Given the description of an element on the screen output the (x, y) to click on. 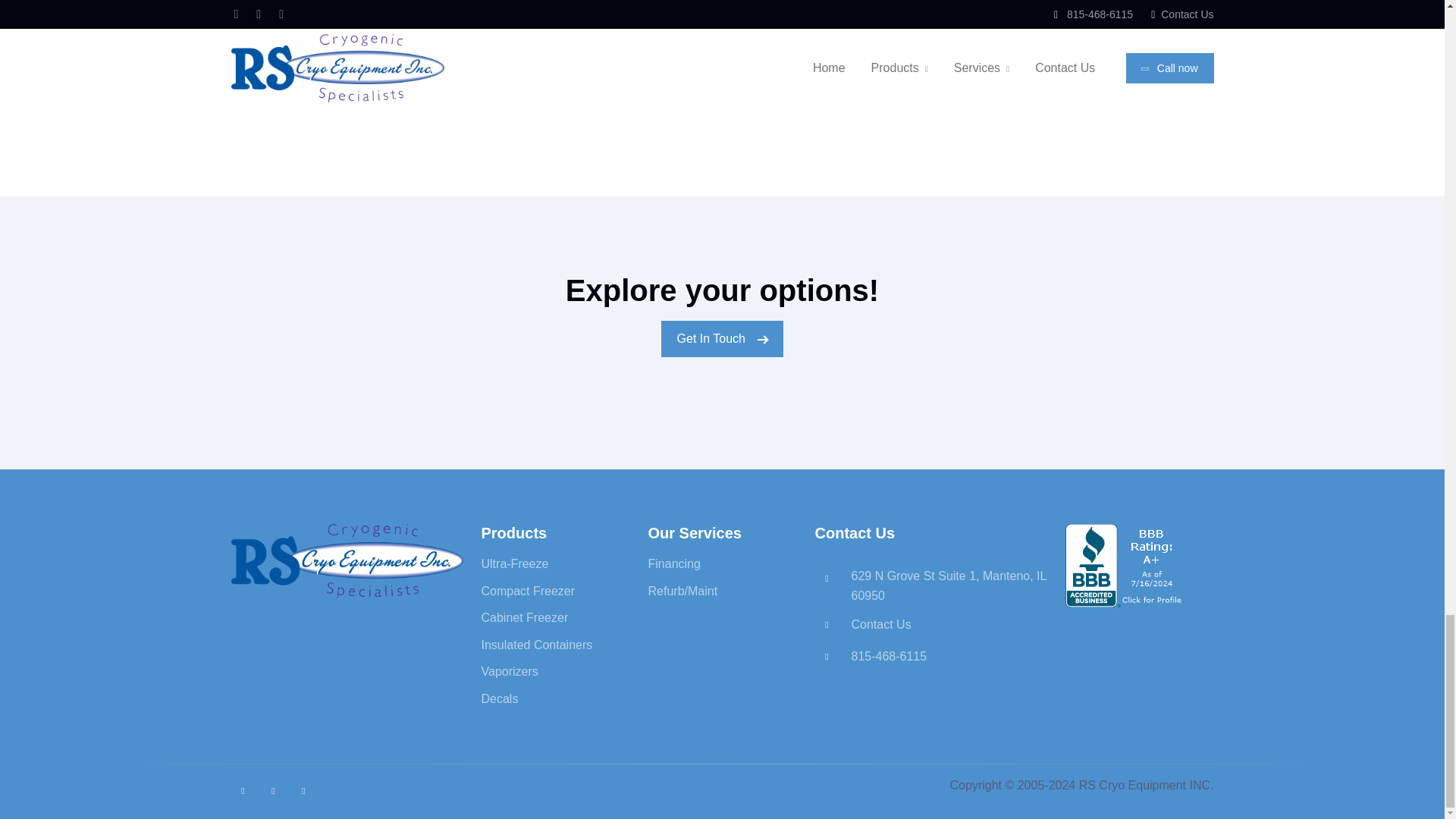
Cabinet Freezer (523, 617)
Ultra-Freeze (514, 563)
RS Cryo Equipment Logo (346, 561)
Insulated Containers (536, 644)
Vaporizers (508, 671)
Compact Freezer (527, 590)
Get In Touch (722, 339)
Ultra-Freeze Tunnel Freezer Documents (722, 57)
